Given the description of an element on the screen output the (x, y) to click on. 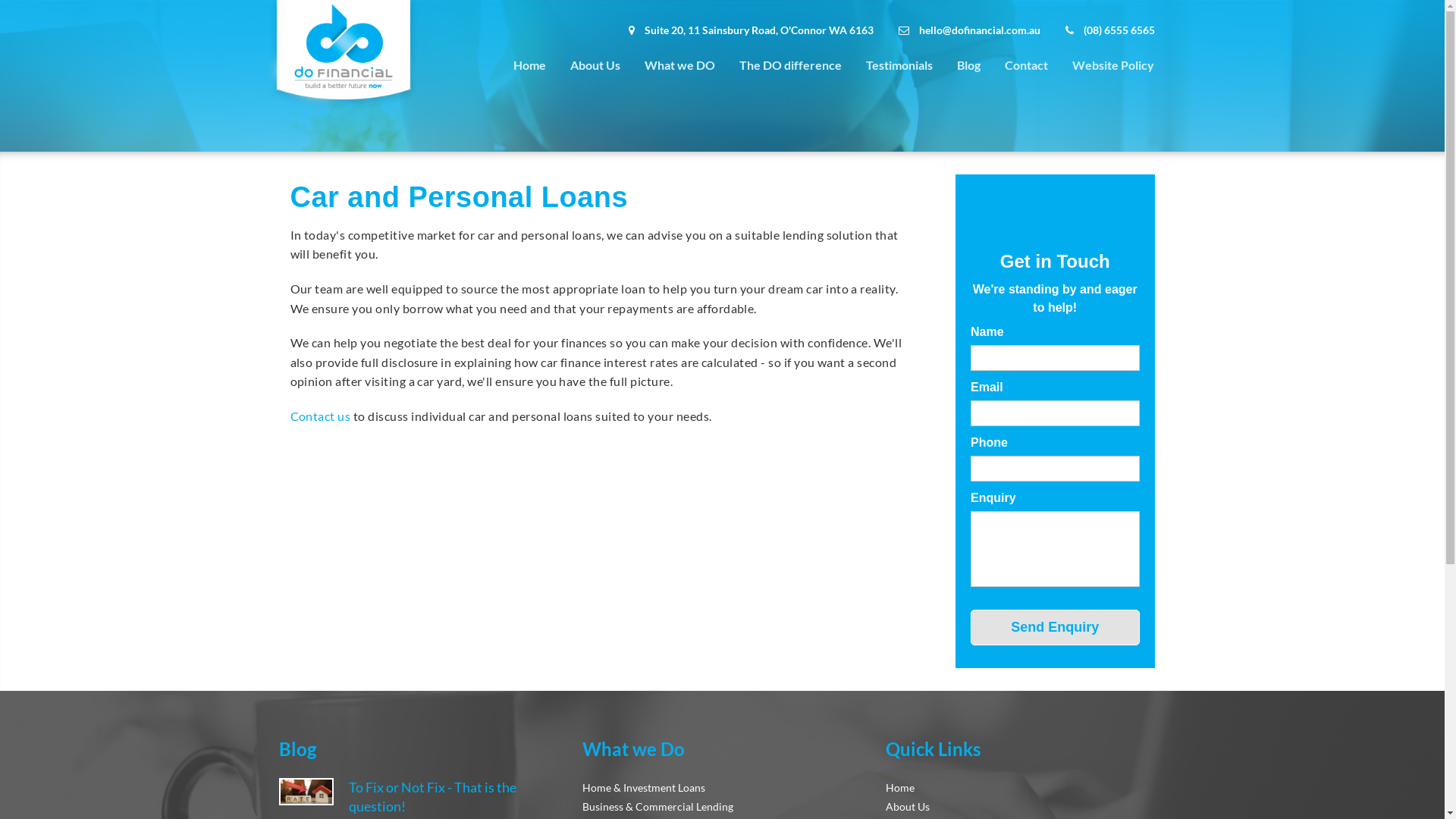
Contact Element type: text (1025, 64)
Send Enquiry Element type: text (1054, 627)
Suite 20, 11 Sainsbury Road, O'Connor WA 6163 Element type: text (738, 29)
To Fix or Not Fix - That is the question! Element type: text (453, 797)
(08) 6555 6565 Element type: text (1097, 29)
Website Policy Element type: text (1113, 64)
Home Element type: text (528, 64)
Business & Commercial Lending Element type: text (657, 806)
Blog Element type: text (968, 64)
About Us Element type: text (595, 64)
Home & Investment Loans Element type: text (643, 787)
The DO difference Element type: text (789, 64)
Testimonials Element type: text (898, 64)
About Us Element type: text (907, 806)
Contact us Element type: text (319, 415)
hello@dofinancial.com.au Element type: text (957, 29)
What we DO Element type: text (679, 64)
Home Element type: text (899, 787)
